Given the description of an element on the screen output the (x, y) to click on. 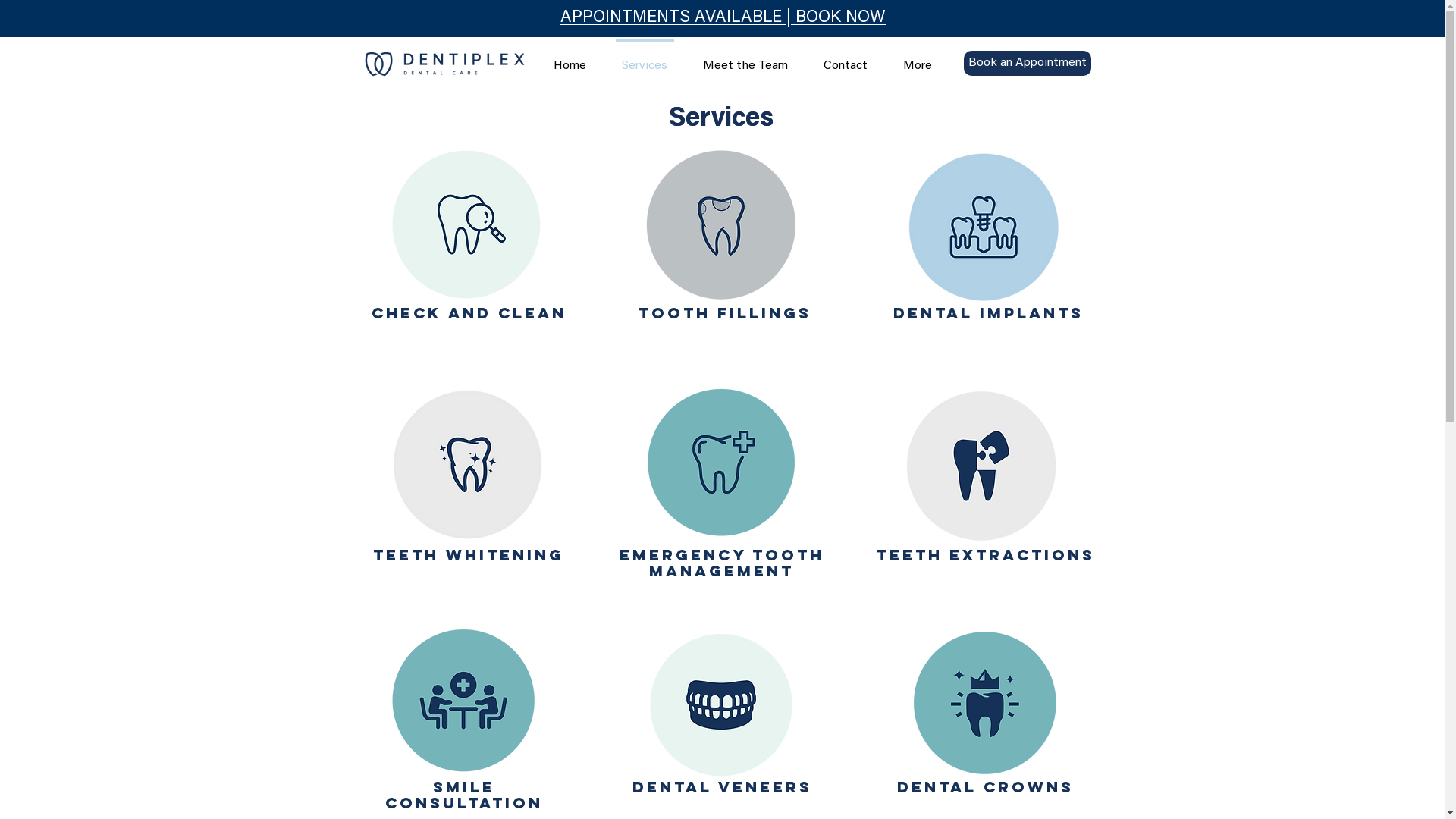
Meet the Team Element type: text (745, 59)
DENTAL IMPLANTS Element type: text (988, 315)
CHECK AND CLEAN Element type: text (468, 315)
Services Element type: text (643, 59)
TEETH WHITENING Element type: text (468, 557)
Book an Appointment Element type: text (1026, 62)
EMERGENCY TOOTH MANAGEMENT Element type: text (720, 565)
TOOTH FILLINGS Element type: text (724, 315)
TEETH EXTRACTIONS Element type: text (985, 557)
Contact Element type: text (844, 59)
Home Element type: text (569, 59)
APPOINTMENTS AVAILABLE | BOOK NOW Element type: text (722, 17)
DENTAL CROWNS Element type: text (984, 789)
SMILE CONSULTATION Element type: text (463, 797)
DENTAL VENEERS Element type: text (722, 789)
